Given the description of an element on the screen output the (x, y) to click on. 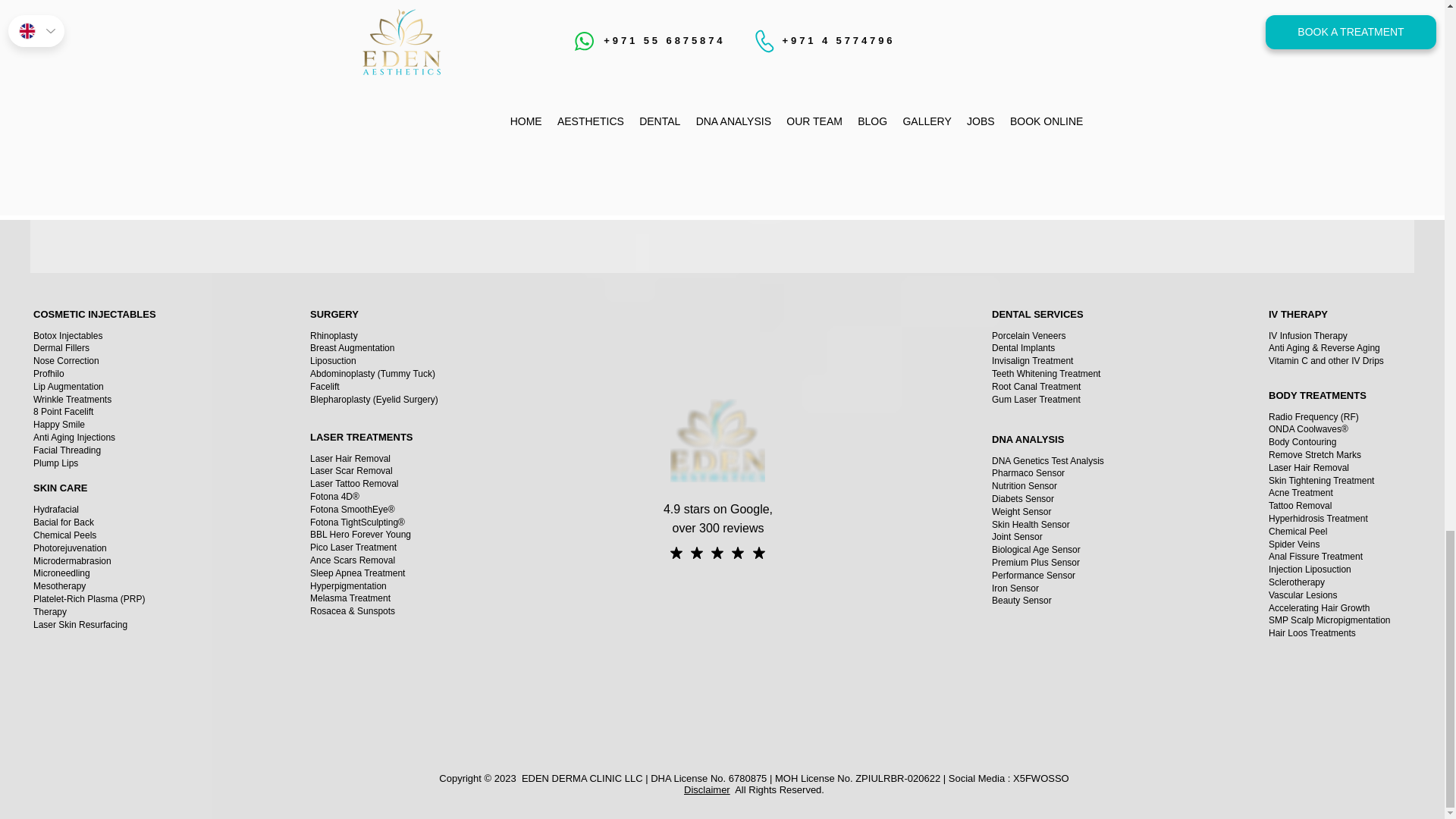
Eden Aesthetics logo (717, 440)
